Given the description of an element on the screen output the (x, y) to click on. 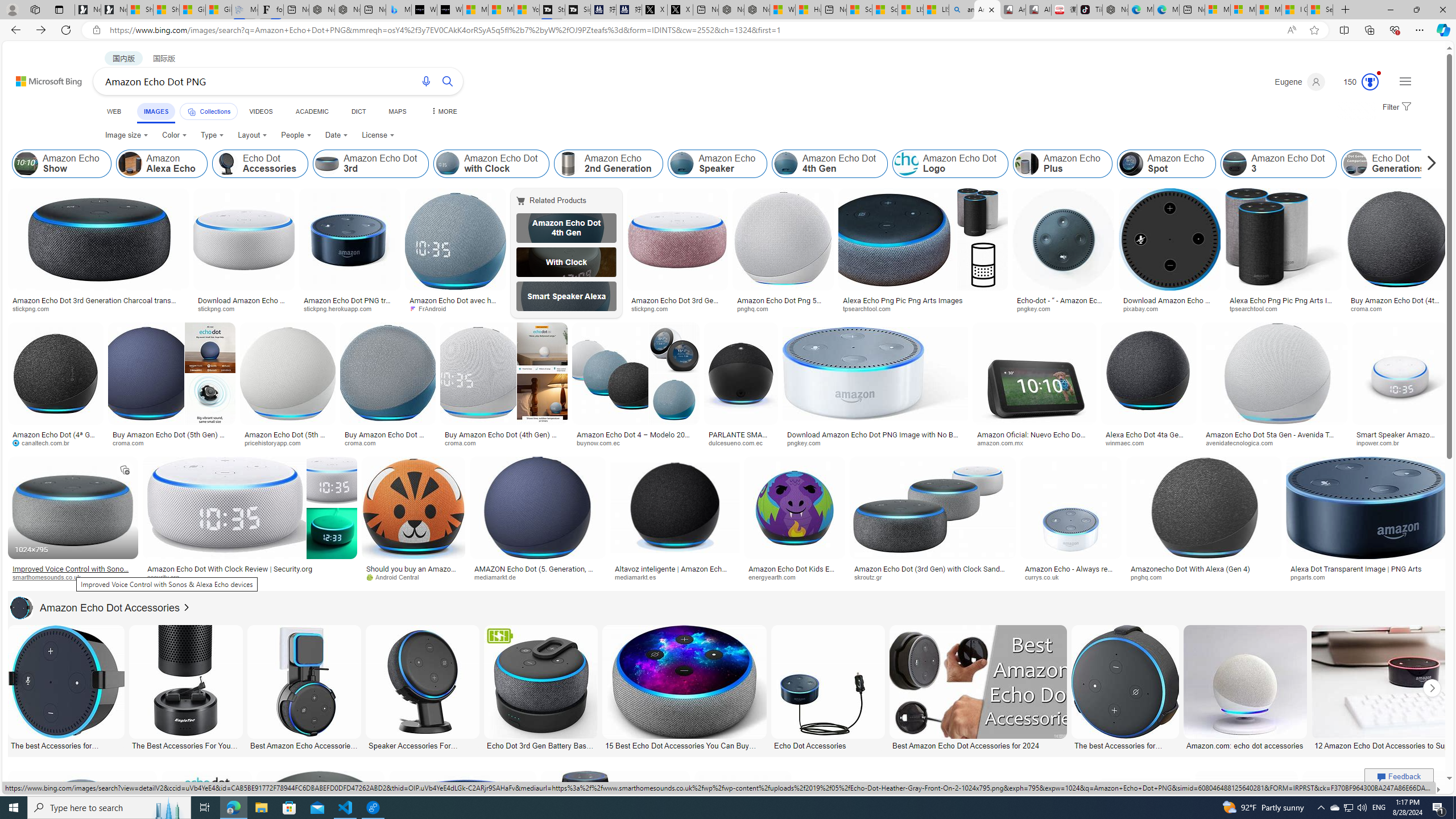
Amazon Echo Spot (1165, 163)
inpower.com.br (1399, 442)
stickpng.herokuapp.com (350, 308)
stickpng.herokuapp.com (342, 308)
DICT (357, 111)
energyearth.com (794, 576)
